Given the description of an element on the screen output the (x, y) to click on. 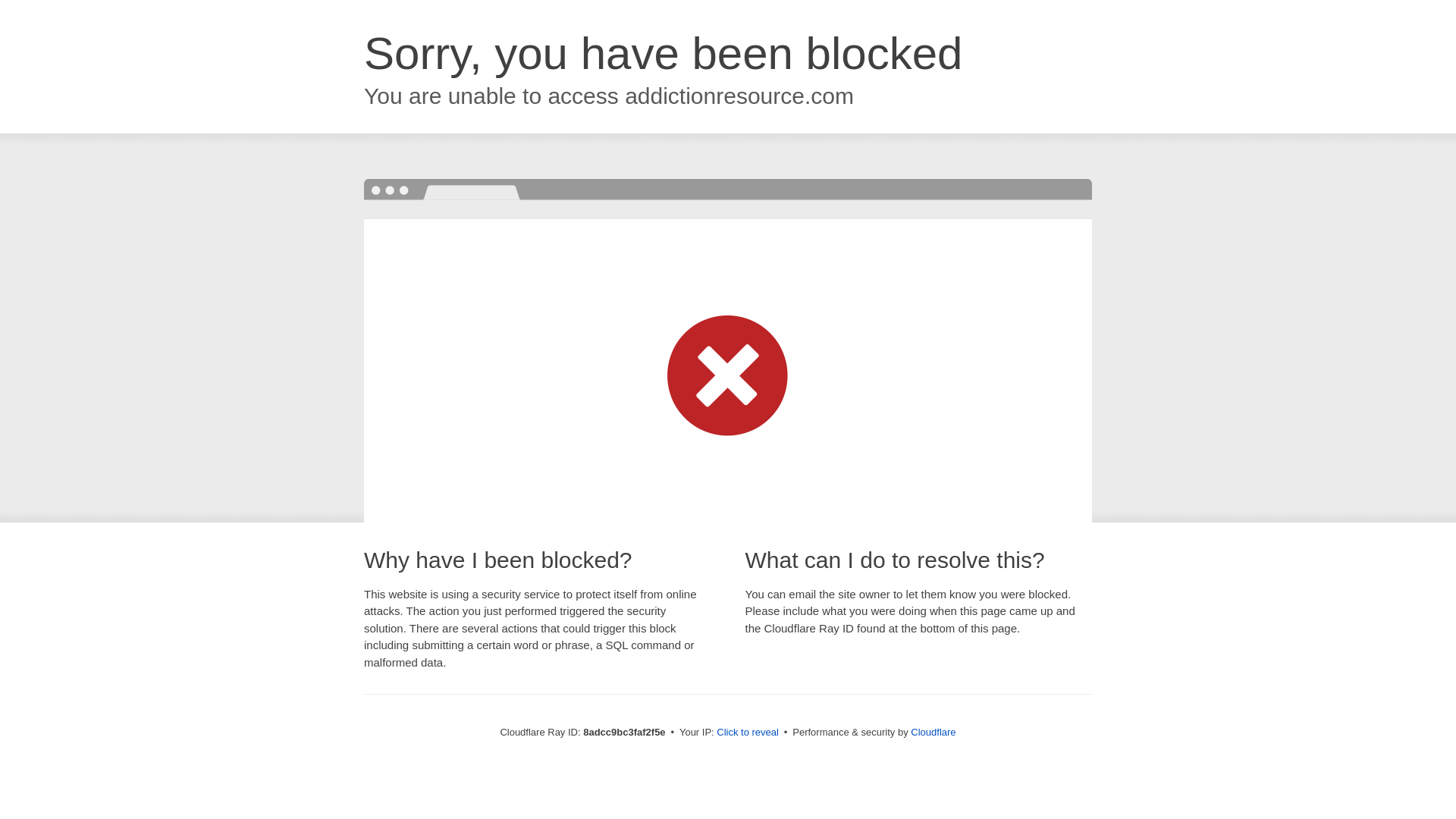
Cloudflare (933, 731)
Click to reveal (747, 732)
